Given the description of an element on the screen output the (x, y) to click on. 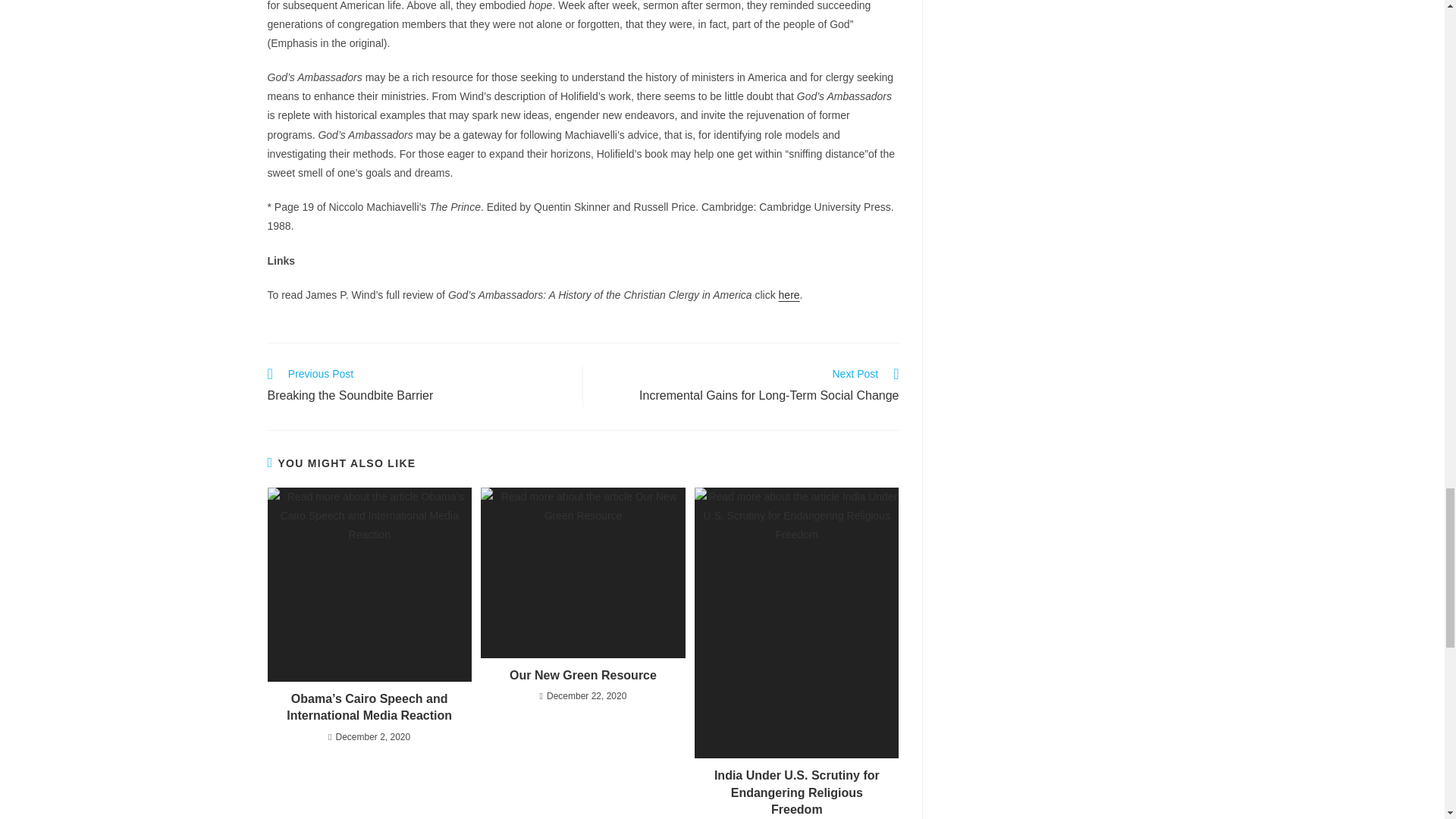
India Under U.S. Scrutiny for Endangering Religious Freedom (796, 792)
here (788, 295)
Our New Green Resource (416, 386)
